Given the description of an element on the screen output the (x, y) to click on. 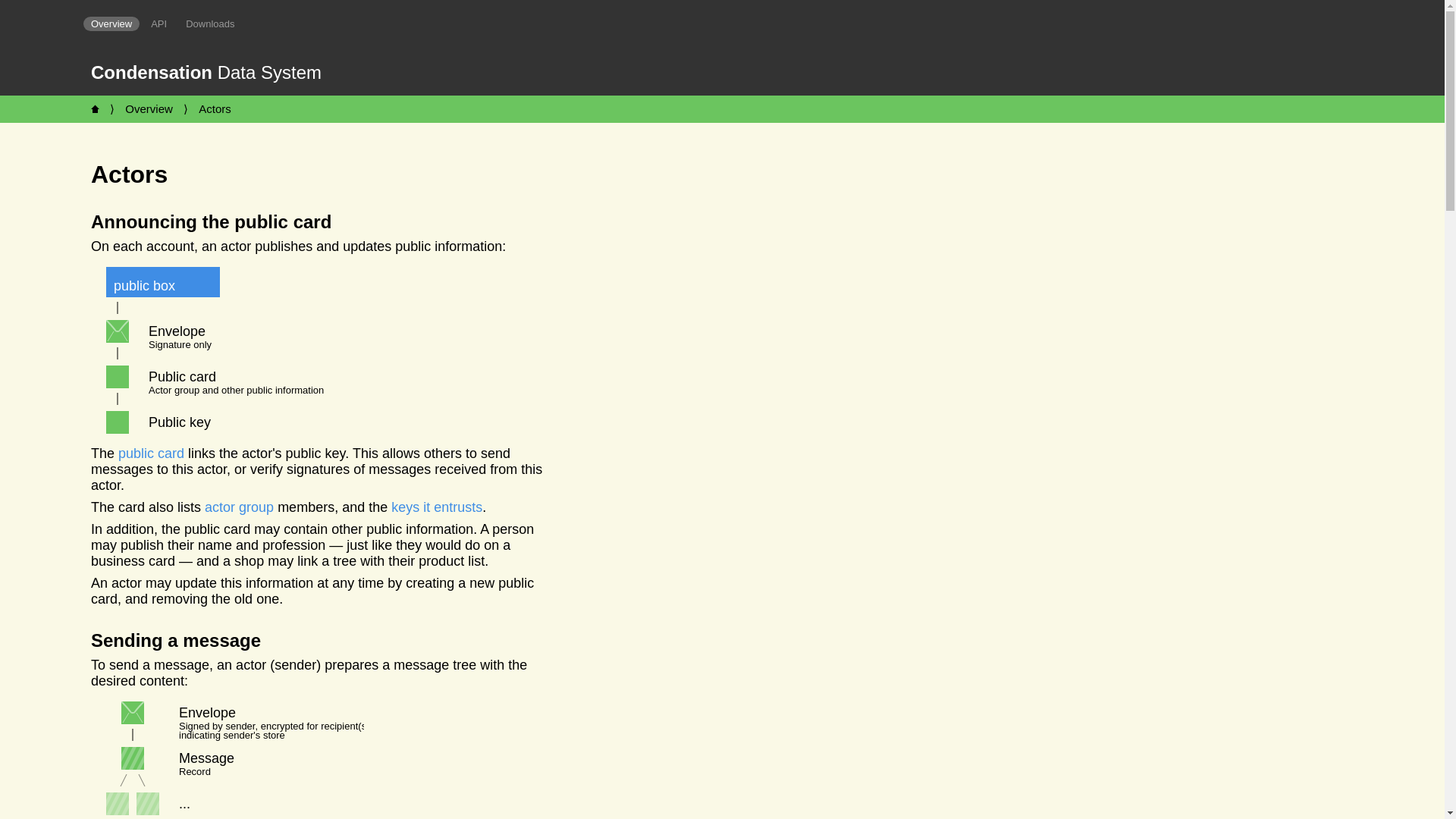
Condensation Data System (205, 72)
actor group (239, 507)
Downloads (209, 23)
public card (150, 453)
Actors (214, 108)
Overview (110, 23)
keys it entrusts (436, 507)
API (158, 23)
